Given the description of an element on the screen output the (x, y) to click on. 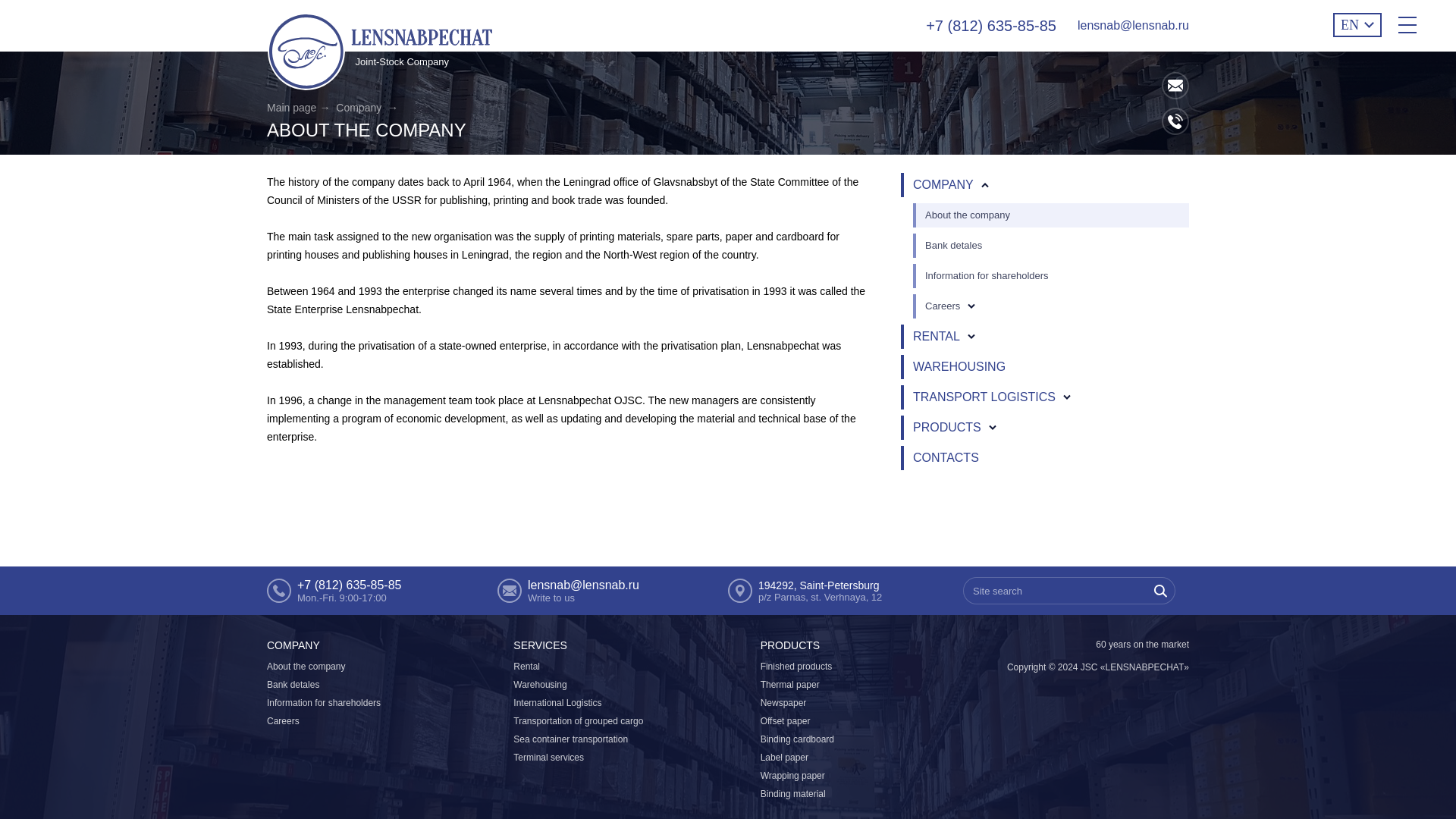
Joint-Stock Company (380, 52)
Main page (298, 107)
Bank detales (952, 245)
Company (366, 107)
Information for shareholders (986, 275)
About the company (967, 215)
COMPANY (943, 184)
